Given the description of an element on the screen output the (x, y) to click on. 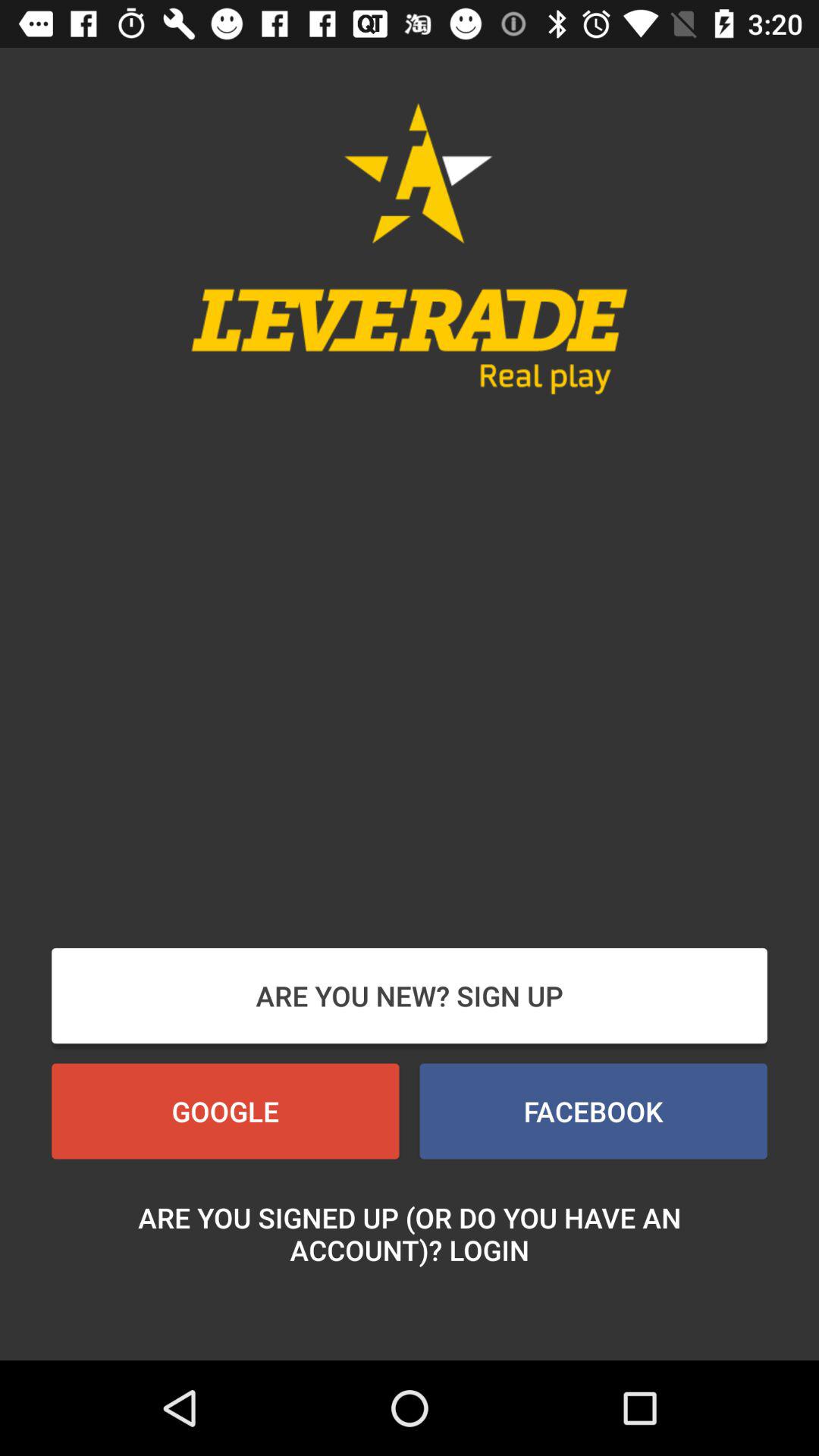
jump until google (225, 1111)
